Given the description of an element on the screen output the (x, y) to click on. 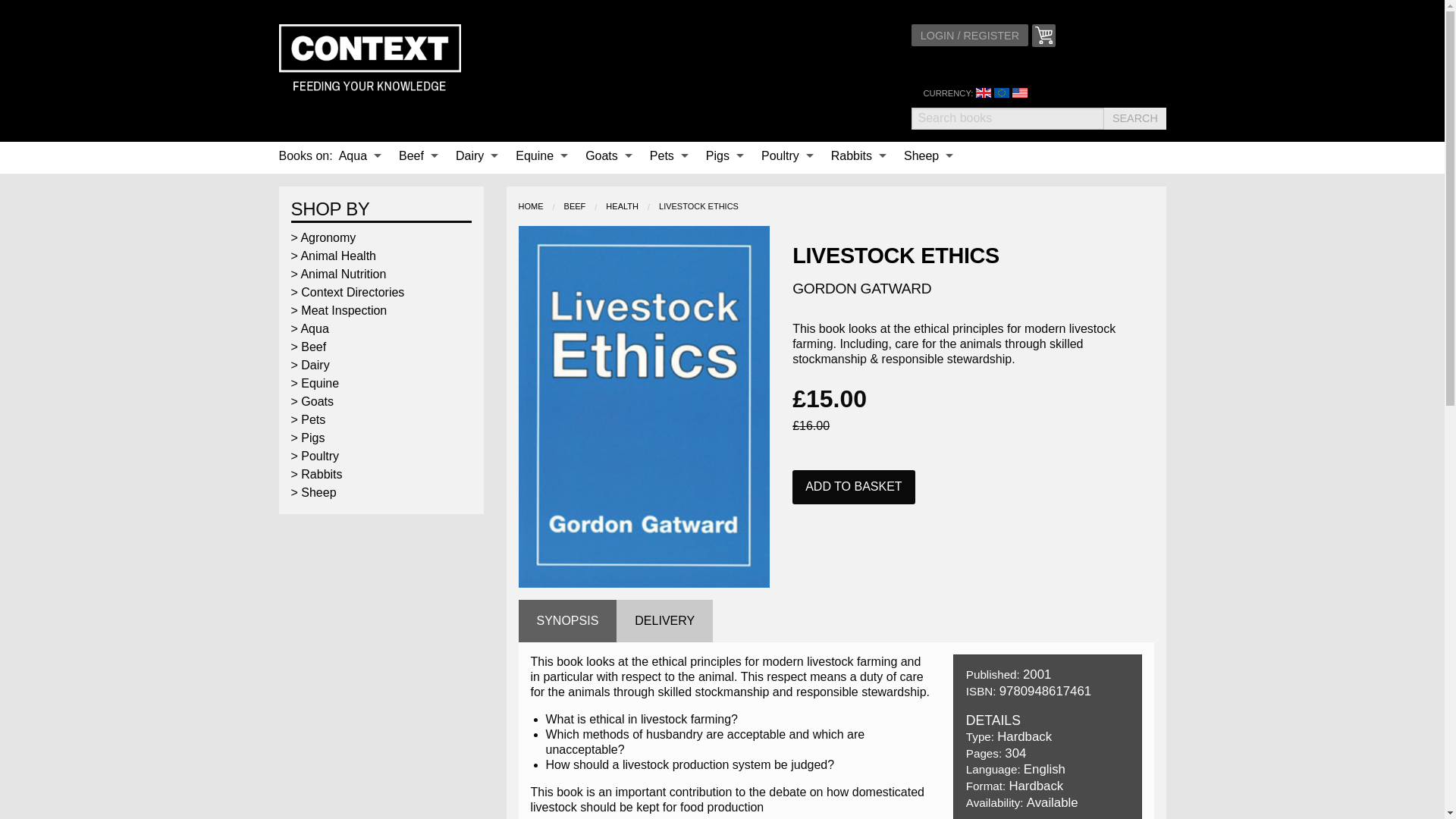
Context Bookshop (370, 59)
Search (1134, 118)
View basket (1043, 35)
USD (1019, 92)
EUR (1001, 92)
GBP (982, 92)
